Given the description of an element on the screen output the (x, y) to click on. 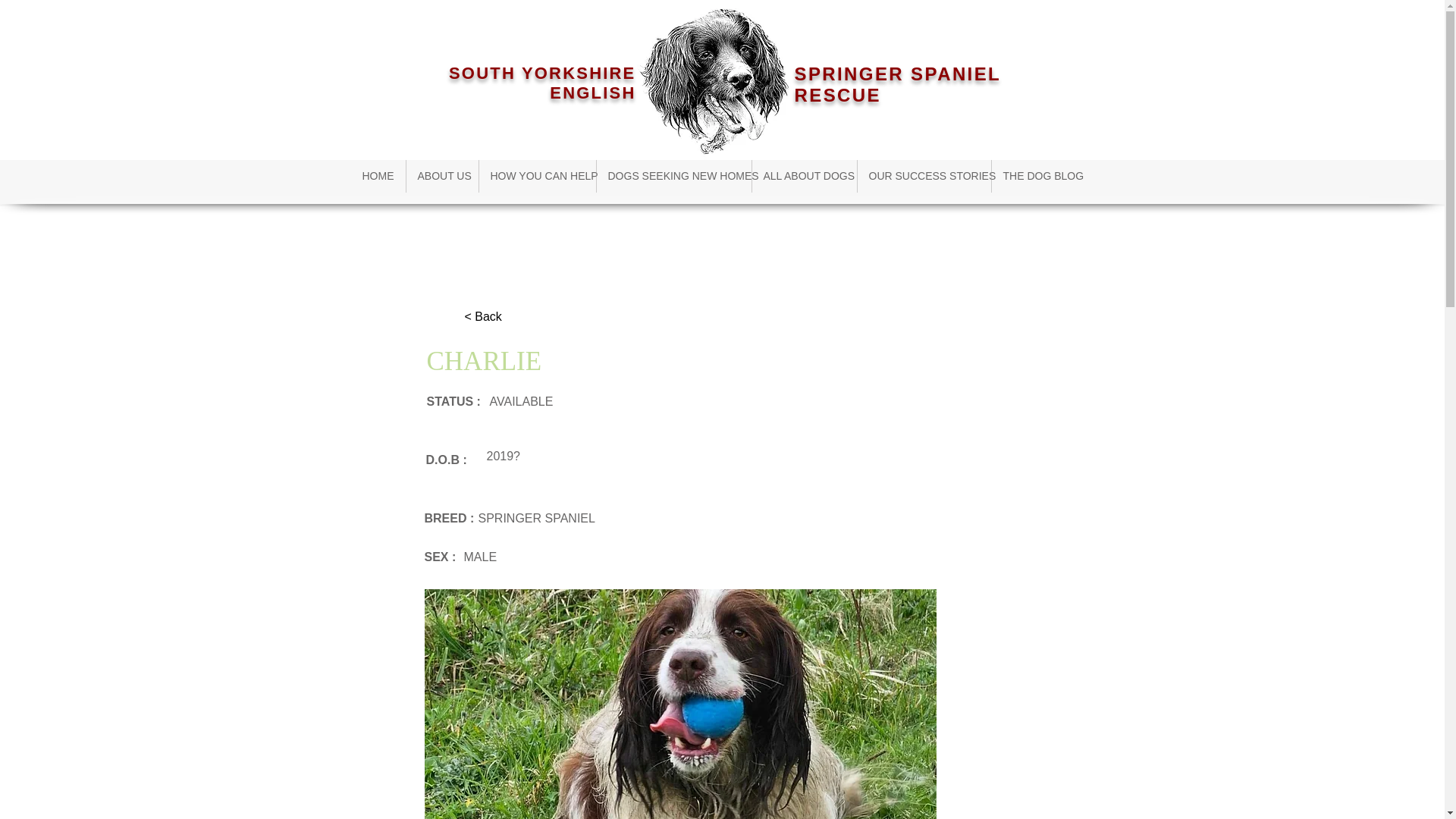
HOME (377, 175)
THE DOG BLOG (1038, 175)
ABOUT US (442, 175)
OUR SUCCESS STORIES (923, 175)
HOW YOU CAN HELP (537, 175)
DOGS SEEKING NEW HOMES (673, 175)
ALL ABOUT DOGS (804, 175)
